Given the description of an element on the screen output the (x, y) to click on. 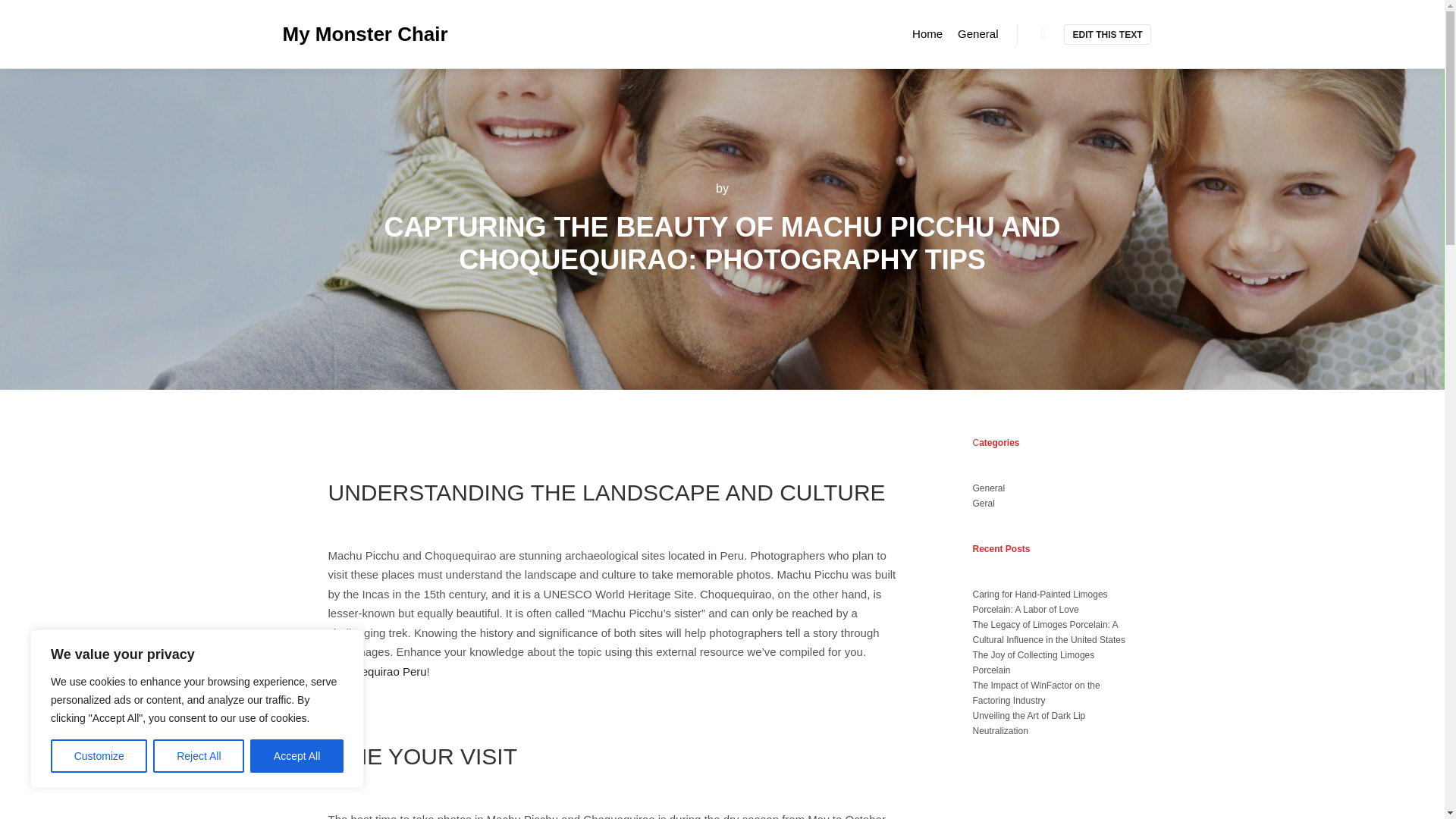
My Monster Chair (357, 33)
EDIT THIS TEXT (1107, 34)
My Monster Chair (357, 33)
Caring for Hand-Painted Limoges Porcelain: A Labor of Love (1039, 601)
The Impact of WinFactor on the Factoring Industry (1035, 692)
General (988, 488)
Accept All (296, 756)
Search (1043, 34)
The Joy of Collecting Limoges Porcelain (1033, 662)
Search (1043, 34)
Choquequirao Peru (376, 671)
Customize (98, 756)
Reject All (198, 756)
Geral (983, 502)
